Given the description of an element on the screen output the (x, y) to click on. 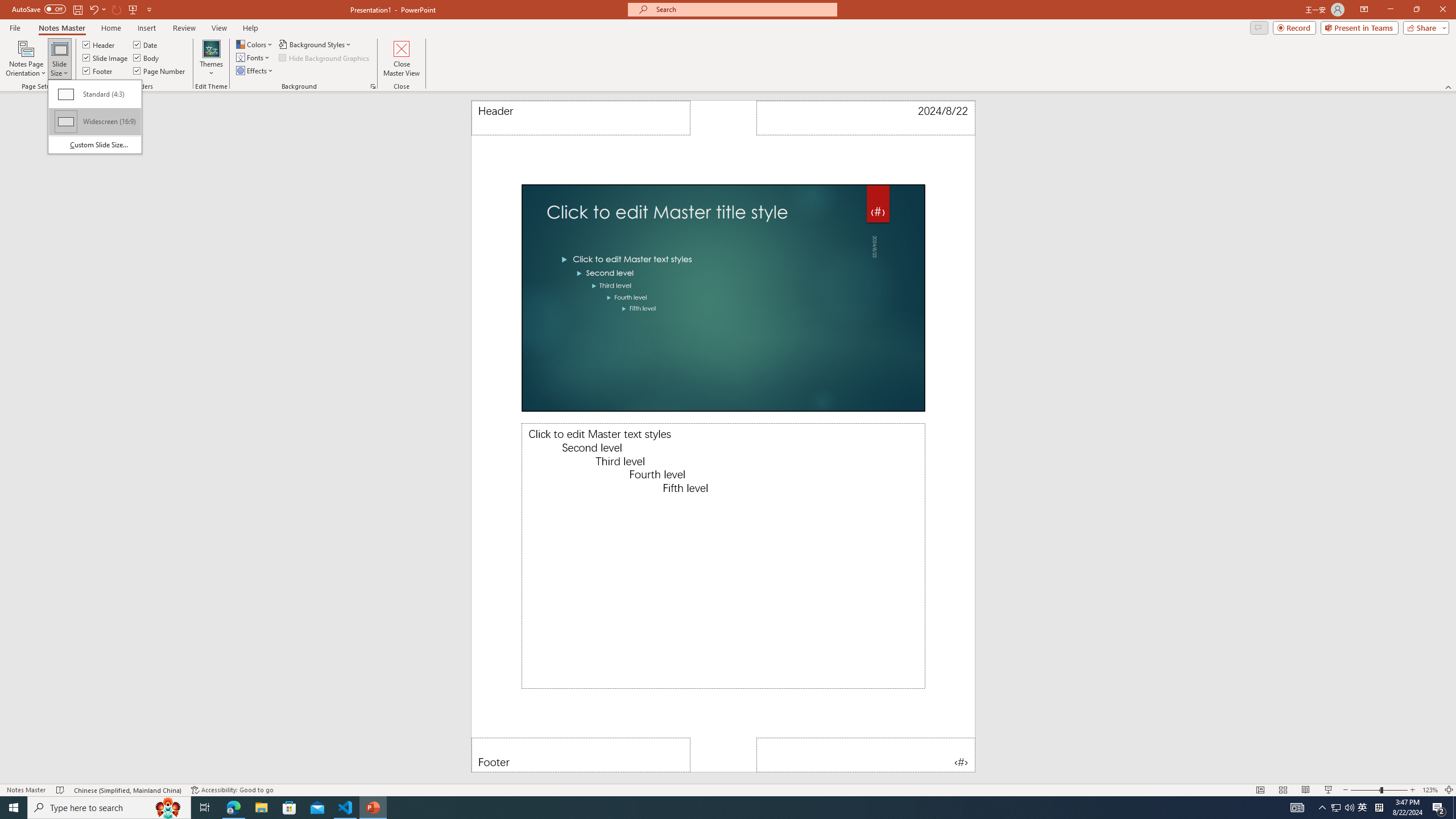
Header (580, 117)
Slide Image (105, 56)
Background Styles (315, 44)
Themes (211, 58)
Notes Master (61, 28)
